Given the description of an element on the screen output the (x, y) to click on. 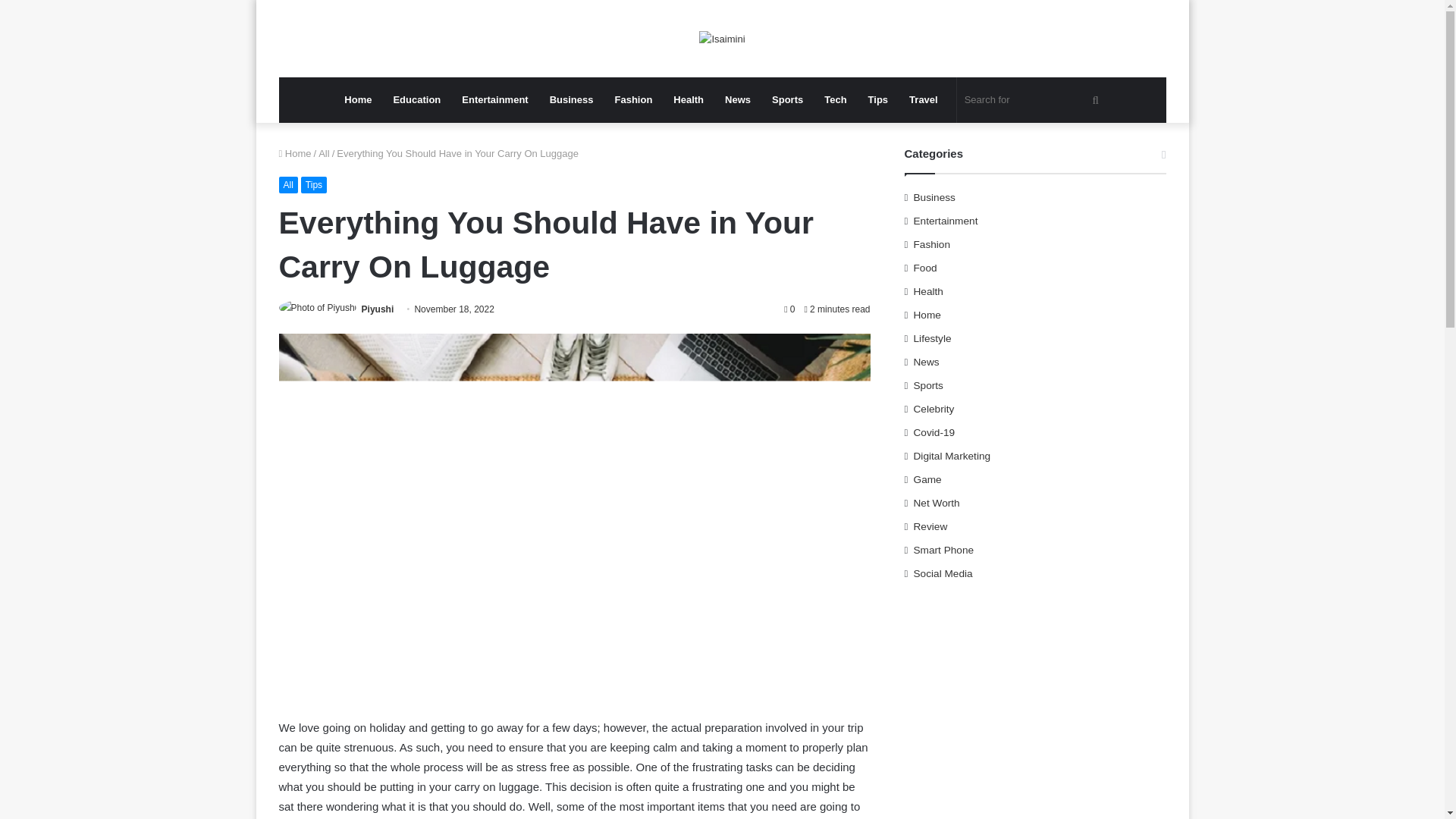
Health (688, 99)
Tips (313, 184)
Home (295, 153)
Piyushi (377, 308)
News (737, 99)
All (288, 184)
Sports (787, 99)
Tips (878, 99)
All (323, 153)
Entertainment (494, 99)
